Given the description of an element on the screen output the (x, y) to click on. 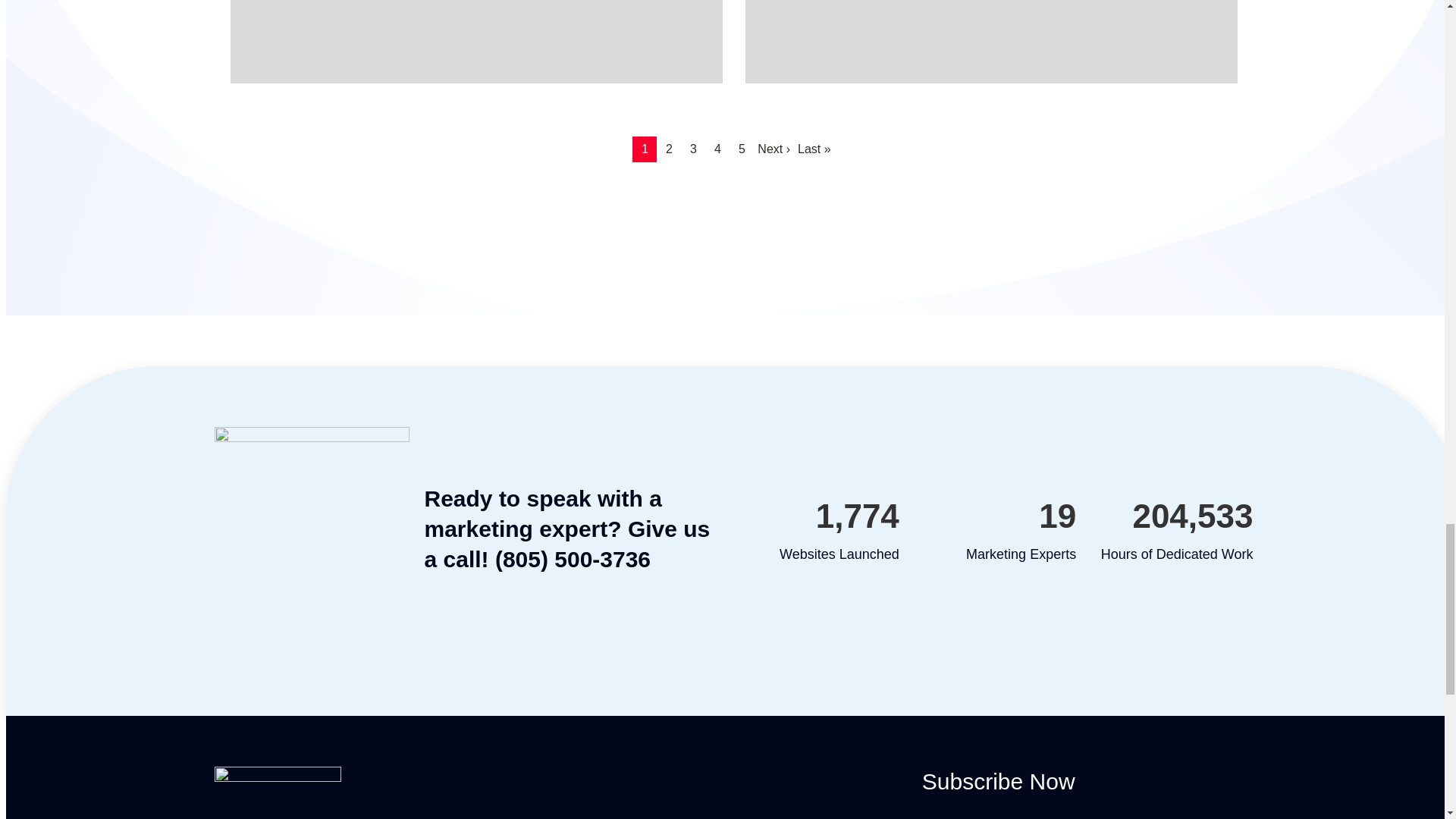
3 (692, 149)
2 (668, 149)
Hire Lower (476, 41)
4 (716, 149)
Sullins Fit Studio (990, 41)
5 (741, 149)
